Given the description of an element on the screen output the (x, y) to click on. 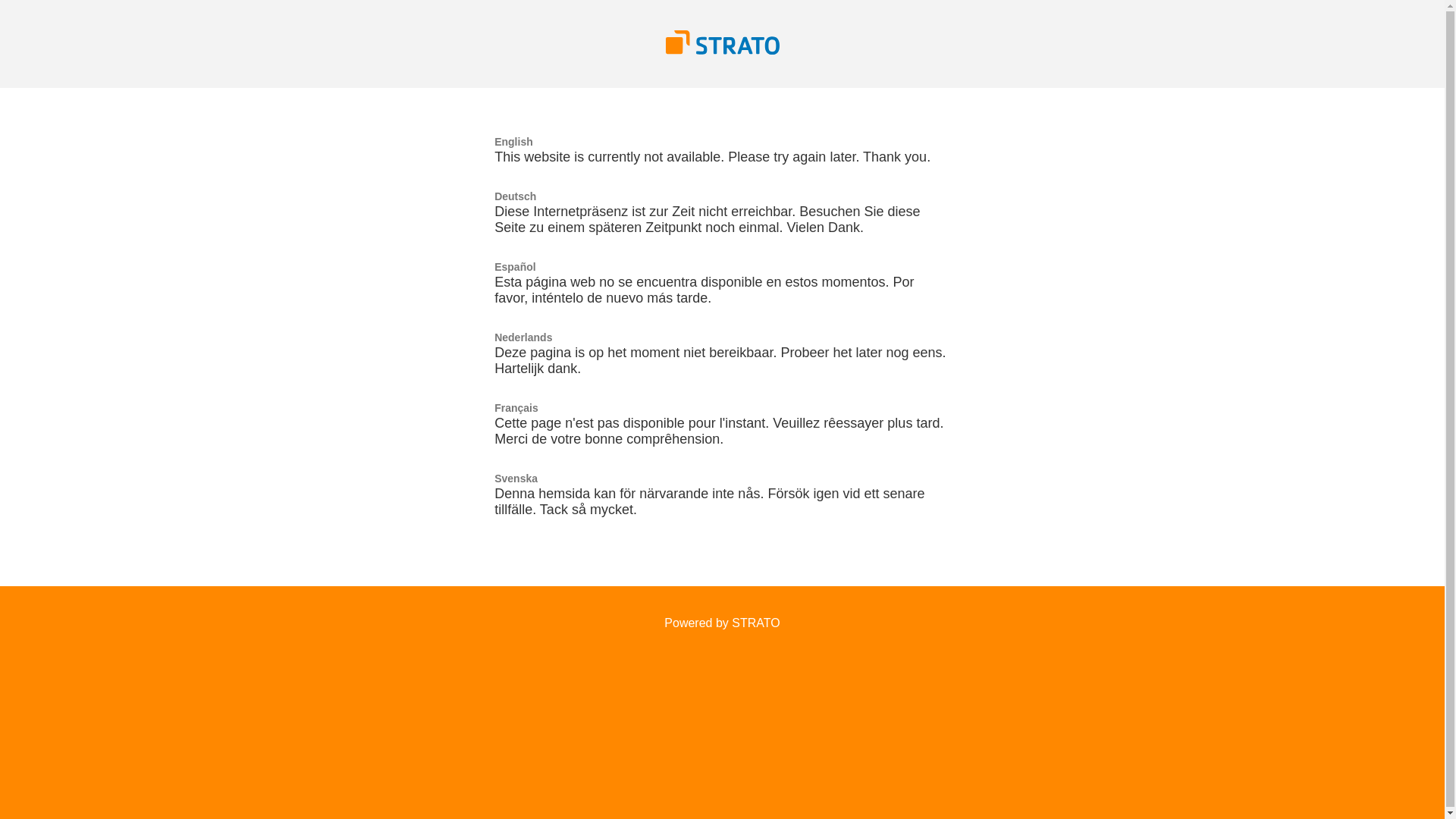
Powered by STRATO Element type: text (721, 622)
